Given the description of an element on the screen output the (x, y) to click on. 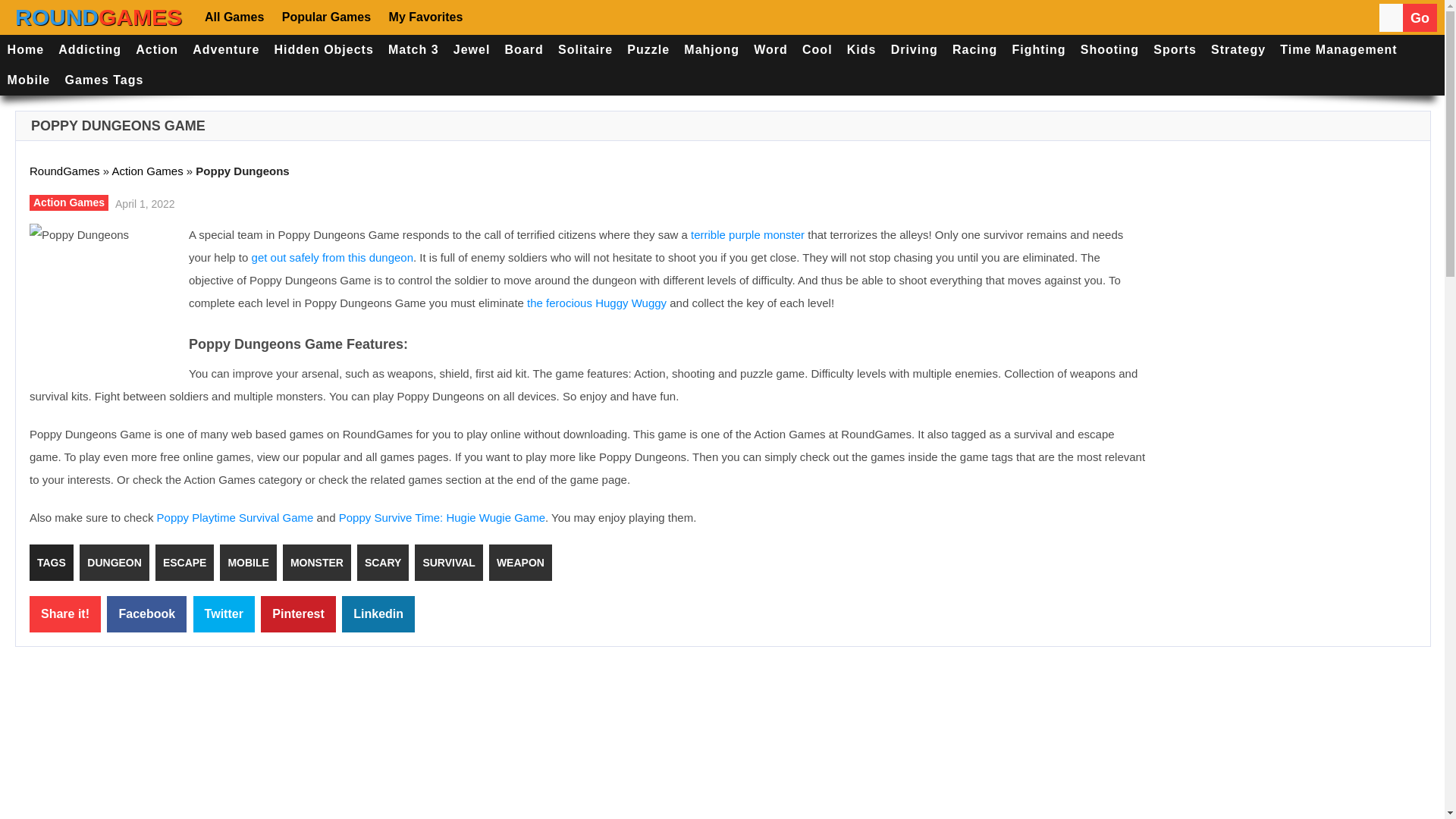
Action (157, 50)
Addicting (89, 50)
Match 3 (412, 50)
Follow us on Facebook (492, 16)
Follow us on Twitter (536, 16)
ROUNDGAMES (98, 17)
Our YouTube Channel (583, 16)
Hidden Objects (323, 50)
Popular Games (324, 16)
Adventure (226, 50)
4:10 pm (143, 202)
